Given the description of an element on the screen output the (x, y) to click on. 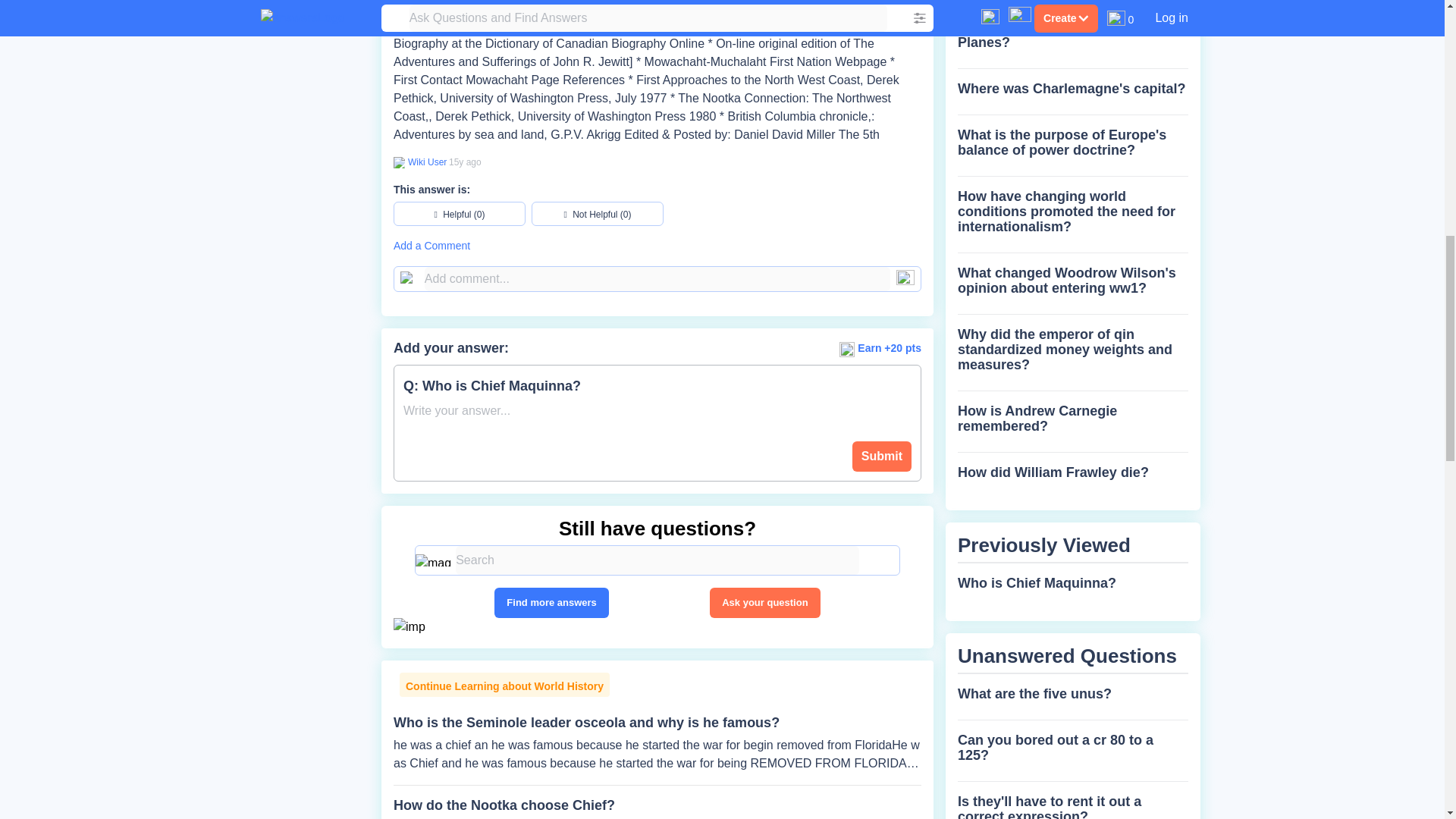
2008-10-29 02:56:17 (464, 162)
